Given the description of an element on the screen output the (x, y) to click on. 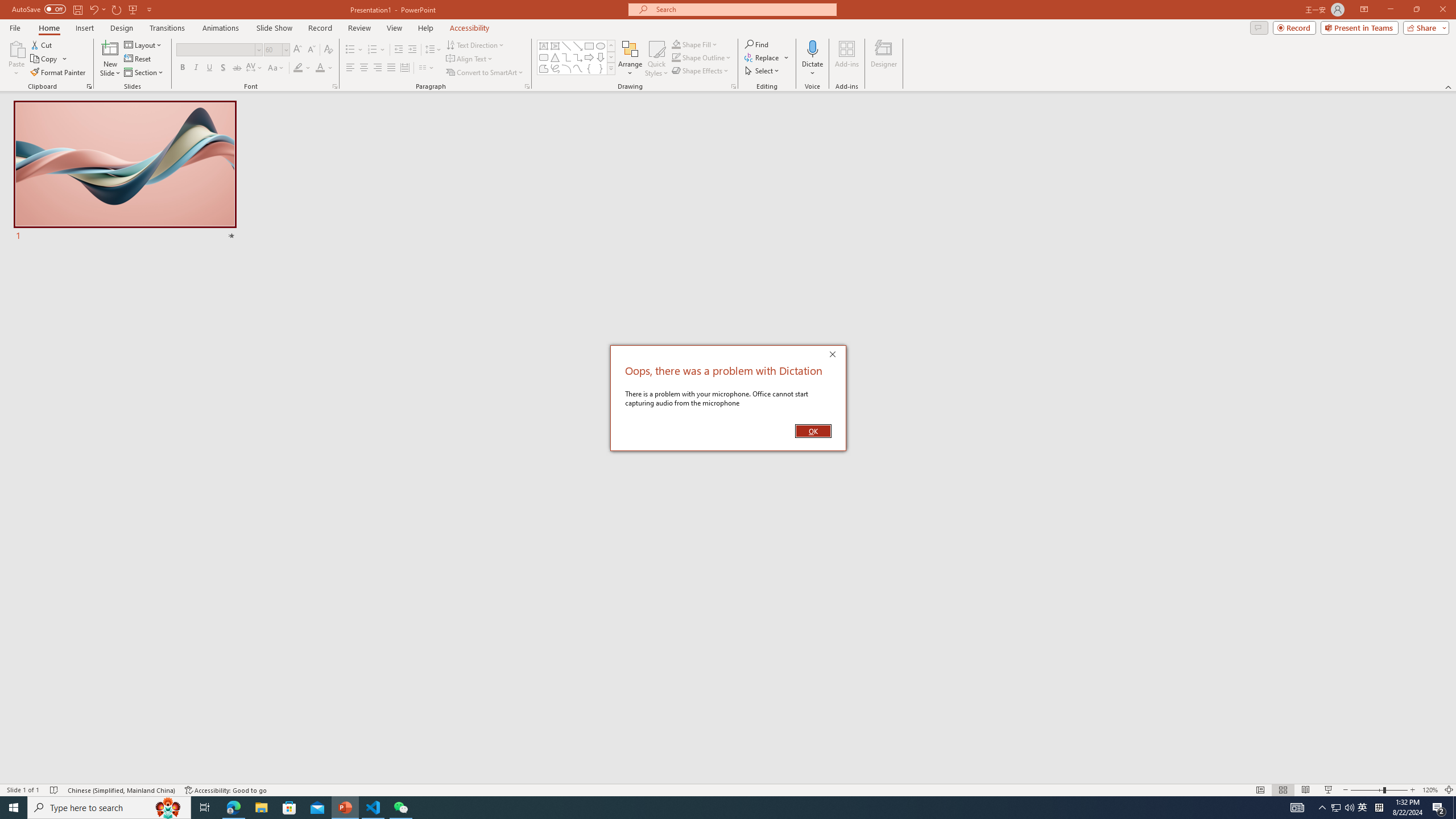
Vertical Text Box (554, 45)
Connector: Elbow (566, 57)
Tray Input Indicator - Chinese (Simplified, China) (1378, 807)
Line Spacing (433, 49)
Arrow: Right (589, 57)
